Given the description of an element on the screen output the (x, y) to click on. 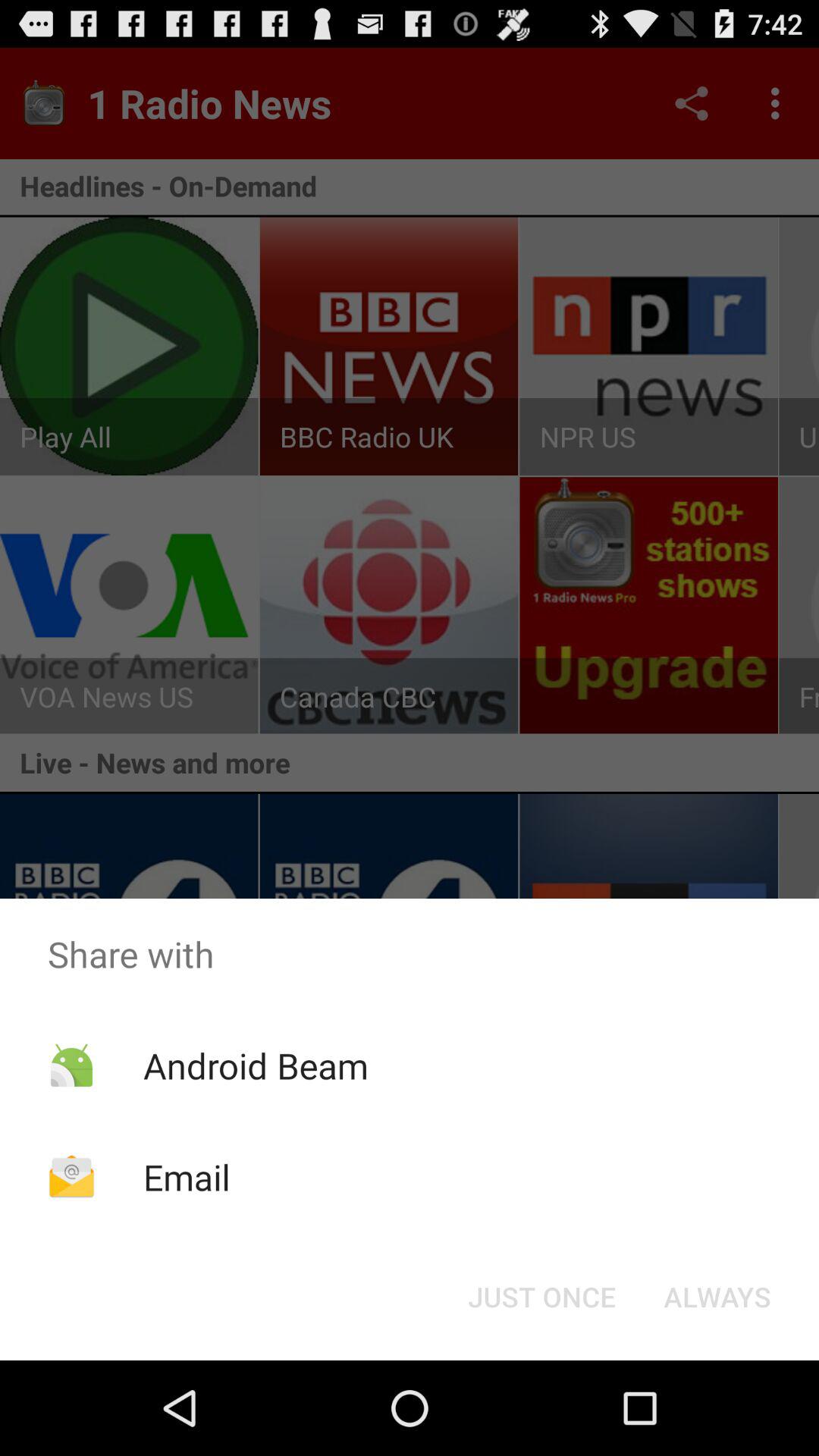
press android beam item (255, 1065)
